Given the description of an element on the screen output the (x, y) to click on. 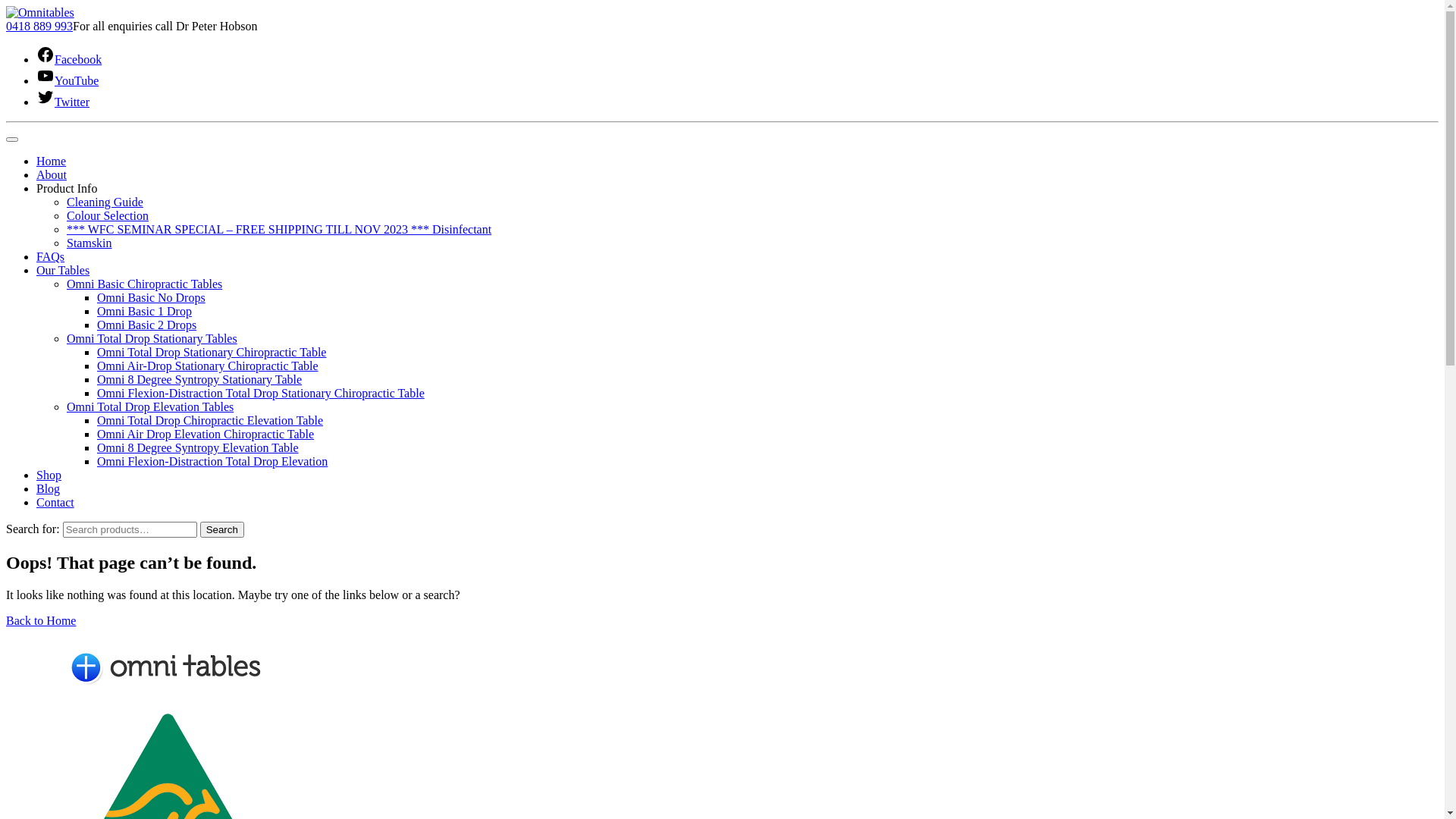
Colour Selection Element type: text (107, 215)
Omni Air Drop Elevation Chiropractic Table Element type: text (205, 433)
Omni 8 Degree Syntropy Elevation Table Element type: text (197, 447)
Omni 8 Degree Syntropy Stationary Table Element type: text (199, 379)
Search Element type: text (222, 529)
Omni Basic 1 Drop Element type: text (144, 310)
Home Element type: text (50, 160)
Omni Air-Drop Stationary Chiropractic Table Element type: text (207, 365)
YouTube Element type: text (67, 80)
Twitter Element type: text (62, 101)
Stamskin Element type: text (89, 242)
Omni Total Drop Elevation Tables Element type: text (149, 406)
Omni Basic Chiropractic Tables Element type: text (144, 283)
Blog Element type: text (47, 488)
Cleaning Guide Element type: text (104, 201)
Omni Flexion-Distraction Total Drop Elevation Element type: text (212, 461)
Our Tables Element type: text (62, 269)
Product Info Element type: text (66, 188)
FAQs Element type: text (50, 256)
Back to Home Element type: text (40, 620)
Omni Total Drop Chiropractic Elevation Table Element type: text (210, 420)
Shop Element type: text (48, 474)
Contact Element type: text (55, 501)
Omni Basic 2 Drops Element type: text (146, 324)
0418 889 993 Element type: text (39, 25)
Facebook Element type: text (68, 59)
Omni Basic No Drops Element type: text (151, 297)
Omni Total Drop Stationary Chiropractic Table Element type: text (211, 351)
About Element type: text (51, 174)
Omni Total Drop Stationary Tables Element type: text (151, 338)
